Given the description of an element on the screen output the (x, y) to click on. 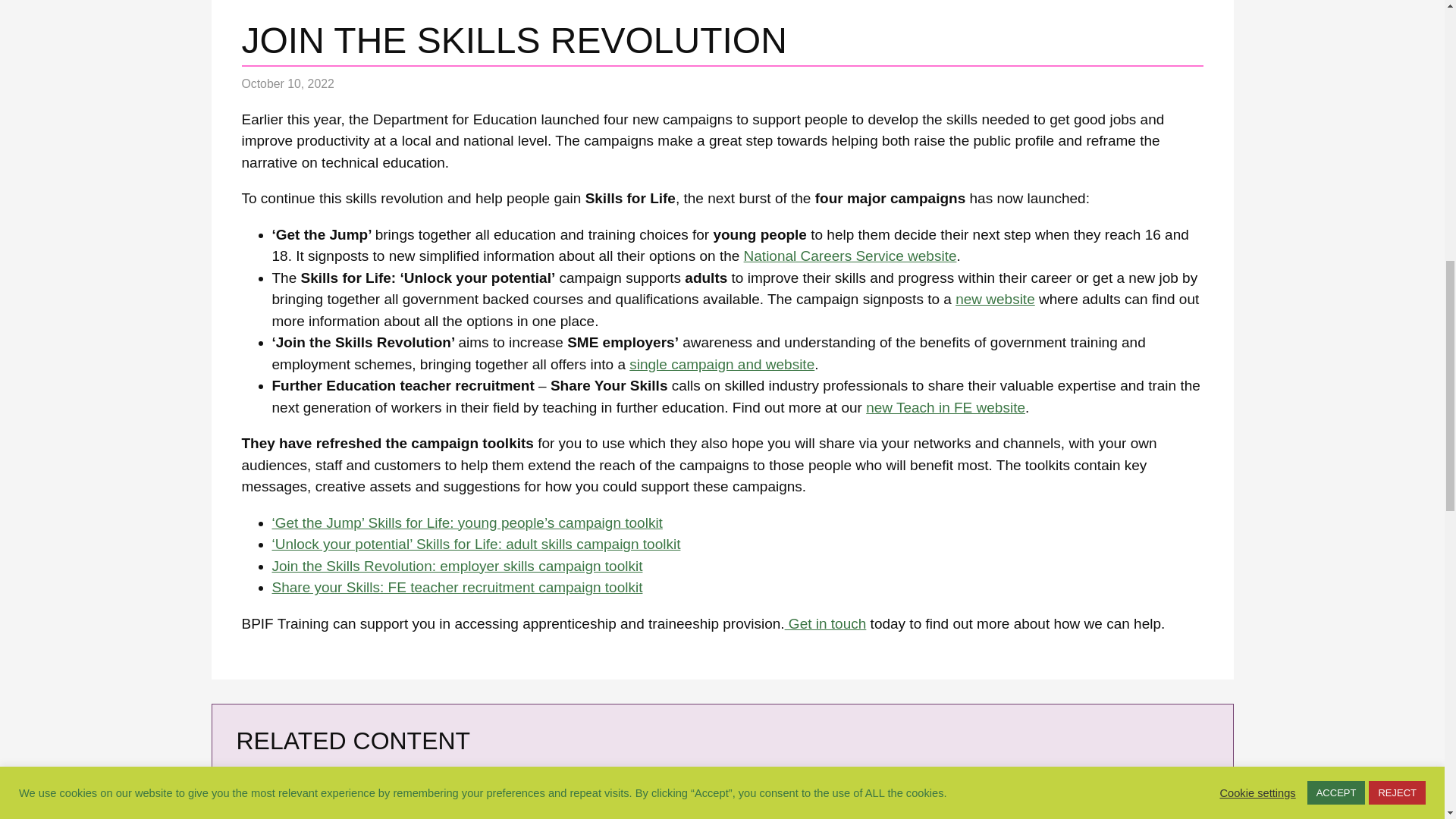
Join the Skills Revolution: employer skills campaign toolkit (456, 565)
new website (995, 299)
Get in touch (825, 623)
SUBSCRIBE (289, 814)
new Teach in FE website (945, 407)
Share your Skills: FE teacher recruitment campaign toolkit (456, 587)
single campaign and website (720, 364)
National Careers Service website (850, 255)
